Given the description of an element on the screen output the (x, y) to click on. 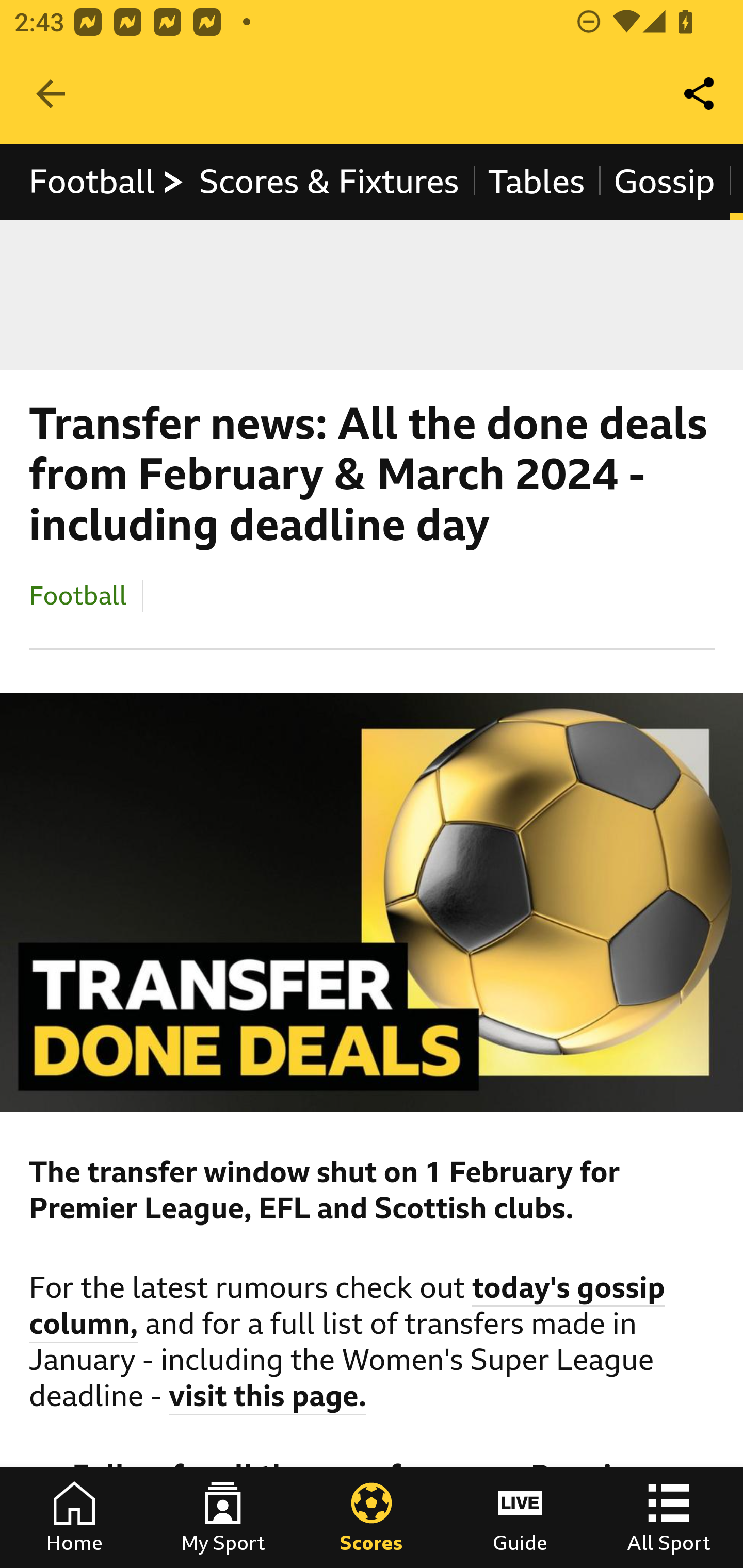
Navigate up (50, 93)
Share (699, 93)
Football  (106, 181)
Scores & Fixtures (329, 181)
Tables (536, 181)
Gossip (664, 181)
Football (77, 594)
today's gossip column, (347, 1307)
visit this page. (267, 1398)
Home (74, 1517)
My Sport (222, 1517)
Guide (519, 1517)
All Sport (668, 1517)
